Given the description of an element on the screen output the (x, y) to click on. 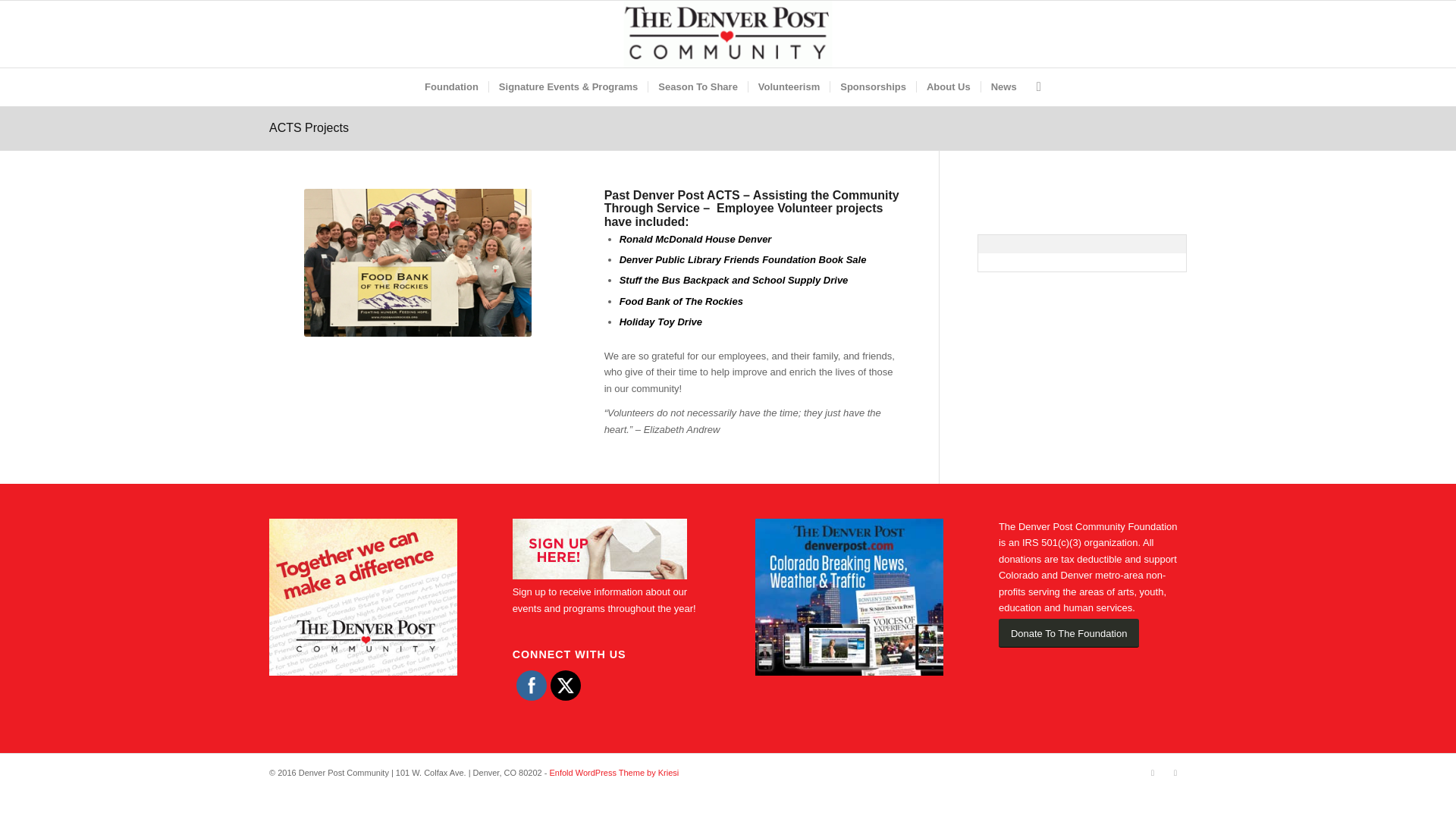
Facebook (531, 685)
Facebook (1174, 772)
Permanent Link: ACTS Projects (309, 127)
Twitter (565, 685)
News (1002, 86)
Season To Share (697, 86)
Sponsorships (872, 86)
Donate To The Foundation (1068, 633)
ACTS Projects (309, 127)
Volunteerism (788, 86)
